Given the description of an element on the screen output the (x, y) to click on. 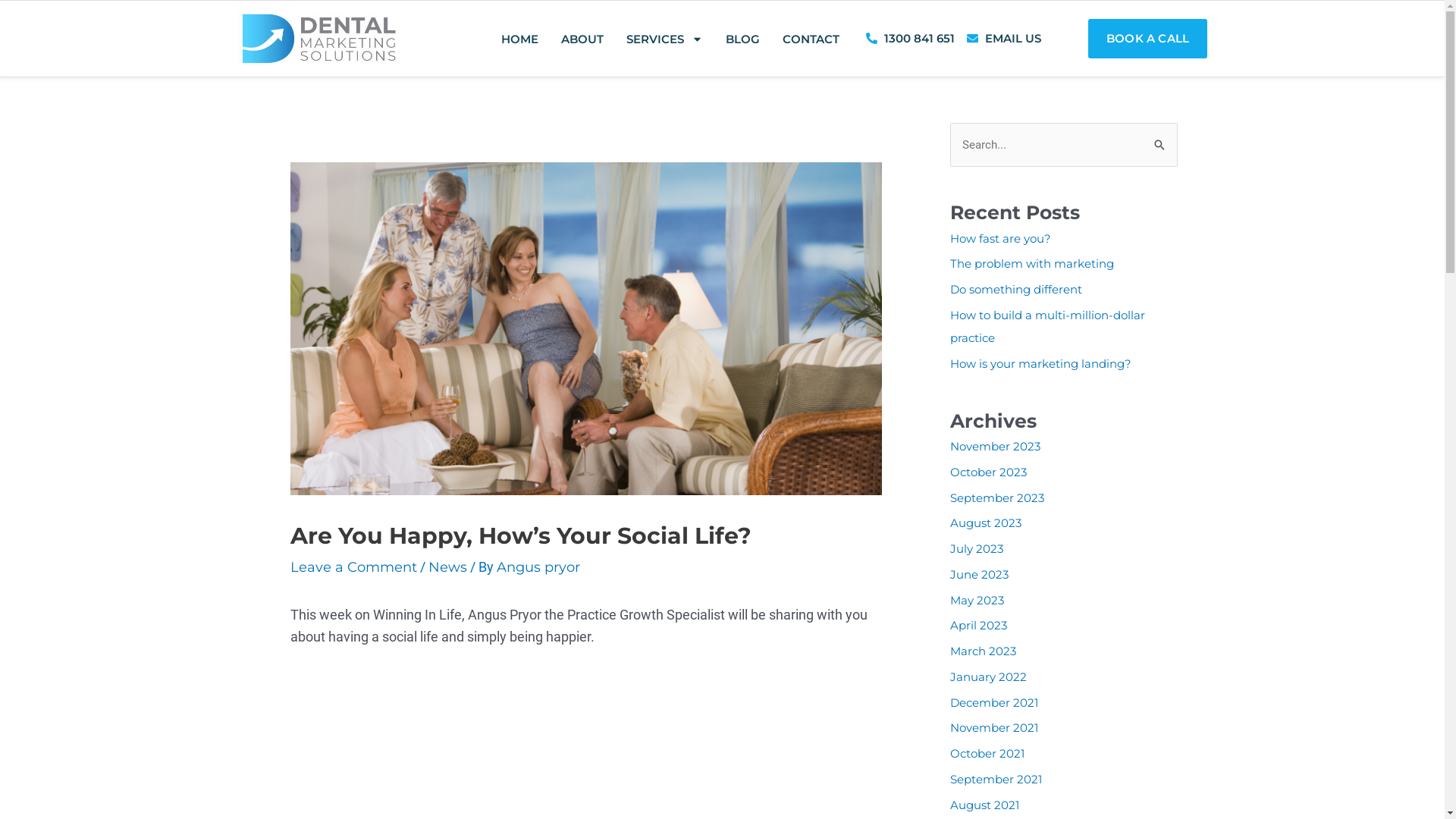
EMAIL US Element type: text (1003, 39)
News Element type: text (446, 566)
May 2023 Element type: text (976, 600)
HOME Element type: text (519, 38)
CONTACT Element type: text (810, 38)
September 2021 Element type: text (995, 778)
1300 841 651 Element type: text (910, 39)
November 2021 Element type: text (993, 727)
BOOK A CALL Element type: text (1147, 38)
December 2021 Element type: text (993, 701)
How fast are you? Element type: text (999, 237)
ABOUT Element type: text (582, 38)
June 2023 Element type: text (978, 574)
November 2023 Element type: text (994, 446)
How is your marketing landing? Element type: text (1039, 363)
How to build a multi-million-dollar practice Element type: text (1046, 326)
Do something different Element type: text (1015, 289)
September 2023 Element type: text (996, 496)
SERVICES Element type: text (664, 38)
August 2023 Element type: text (984, 522)
BLOG Element type: text (742, 38)
October 2021 Element type: text (986, 753)
Angus pryor Element type: text (537, 566)
January 2022 Element type: text (987, 676)
April 2023 Element type: text (977, 625)
Search Element type: text (1160, 137)
October 2023 Element type: text (987, 471)
March 2023 Element type: text (982, 650)
The problem with marketing Element type: text (1031, 263)
Leave a Comment Element type: text (352, 566)
July 2023 Element type: text (975, 548)
August 2021 Element type: text (983, 804)
